Given the description of an element on the screen output the (x, y) to click on. 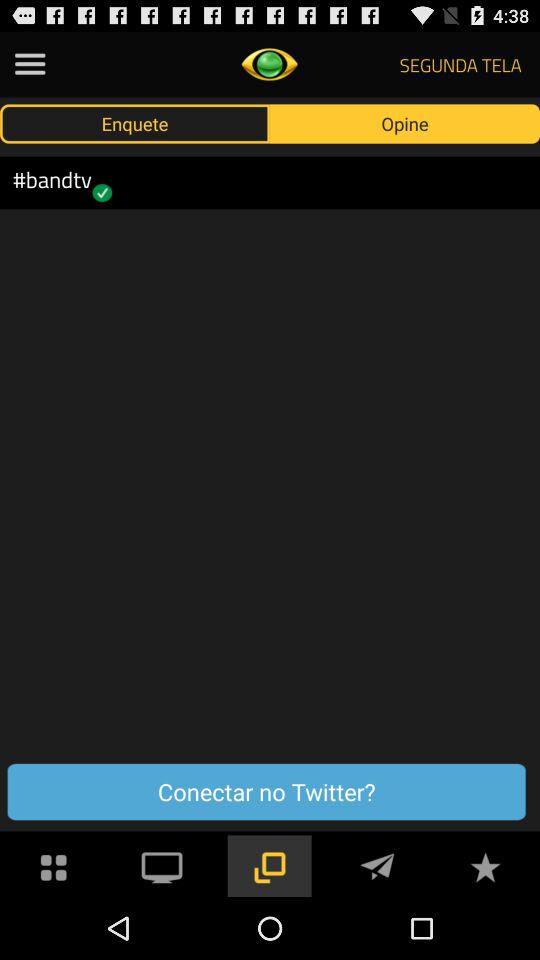
tap icon next to the opine (135, 123)
